Given the description of an element on the screen output the (x, y) to click on. 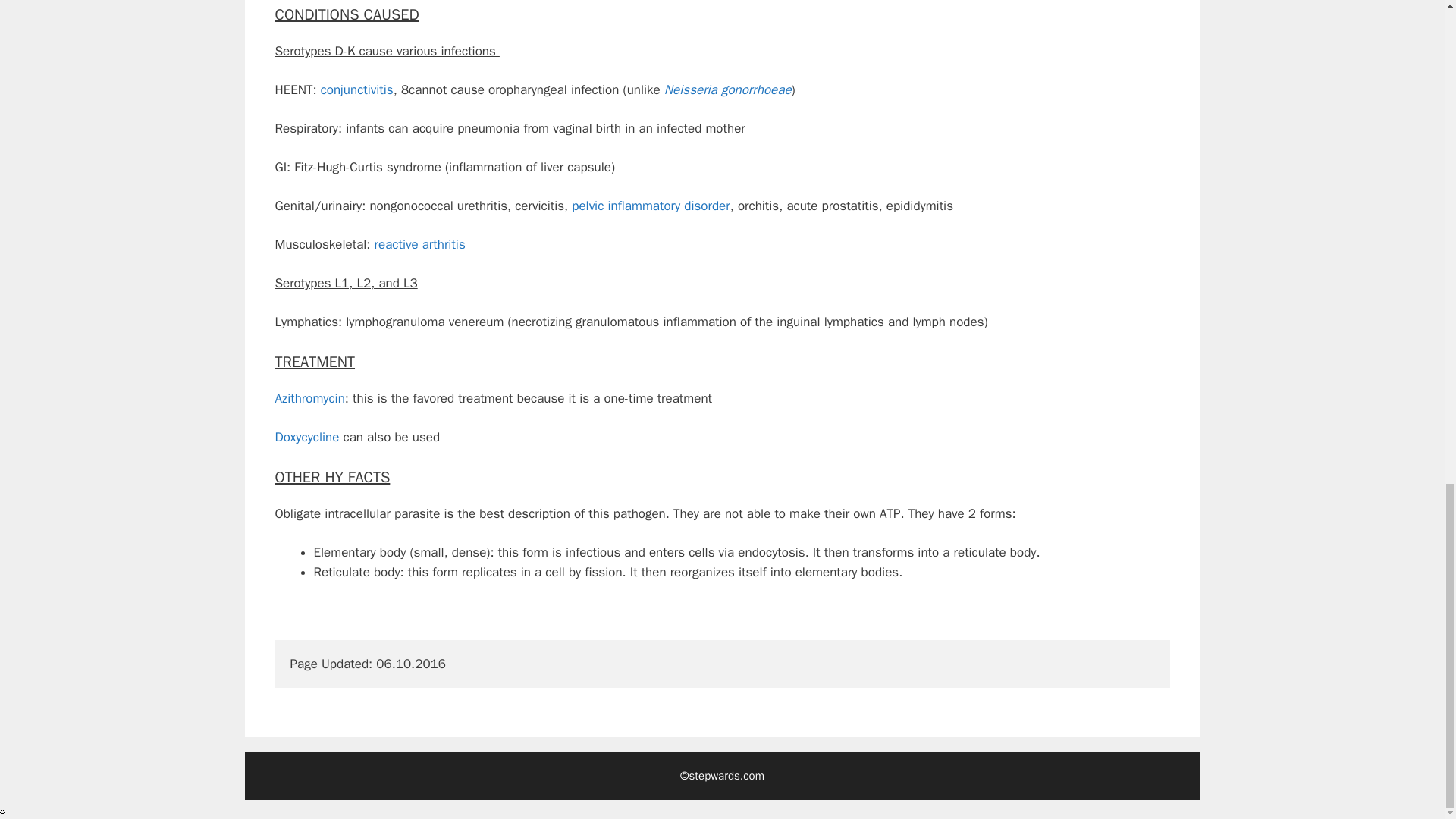
Page 1 (722, 15)
Page 169 (722, 418)
Page 169 (722, 610)
Page 1 (722, 362)
Page 169 (722, 629)
